Given the description of an element on the screen output the (x, y) to click on. 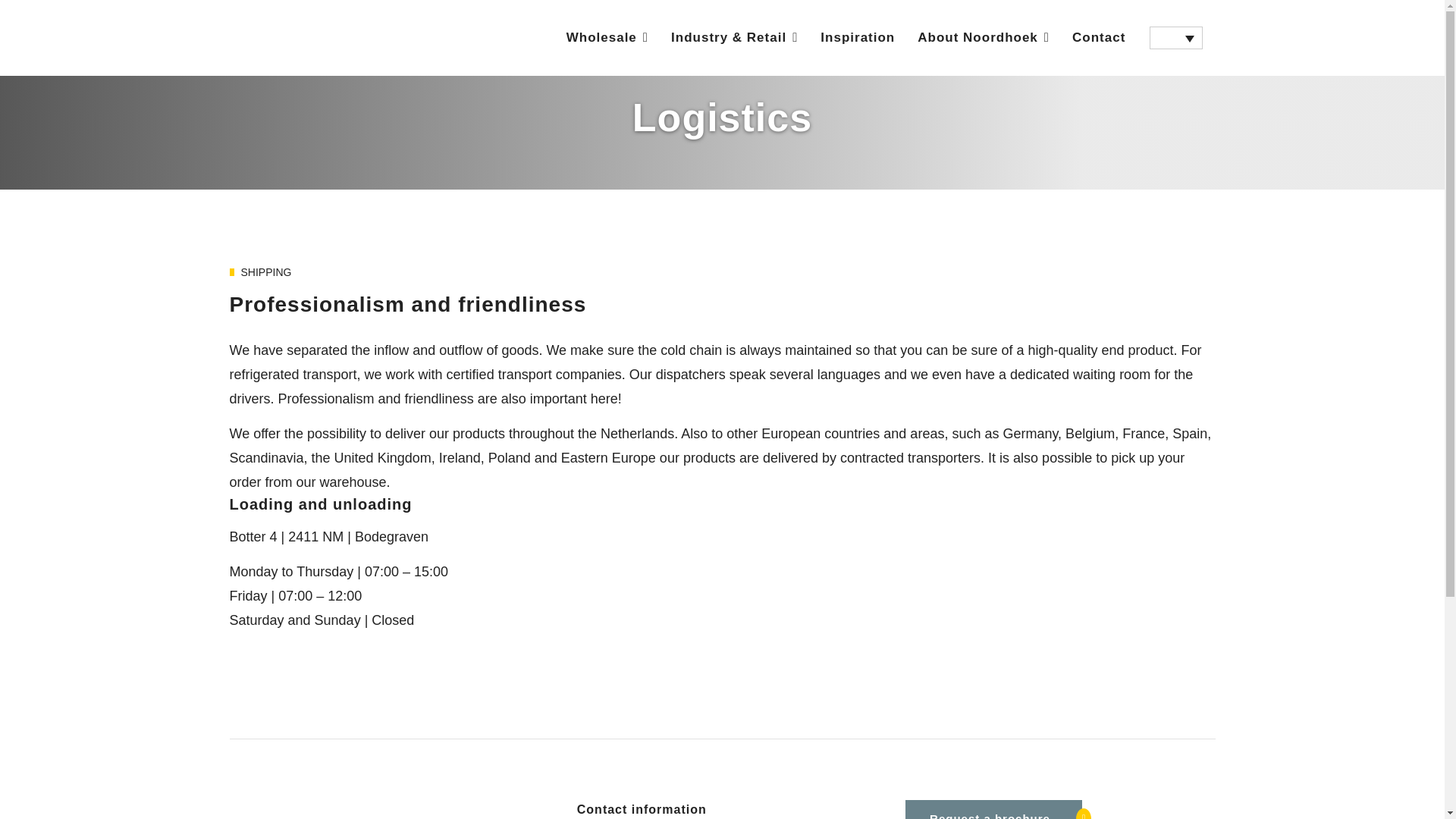
Wholesale (606, 38)
Contact (1099, 38)
Inspiration (857, 38)
About Noordhoek (983, 38)
